Given the description of an element on the screen output the (x, y) to click on. 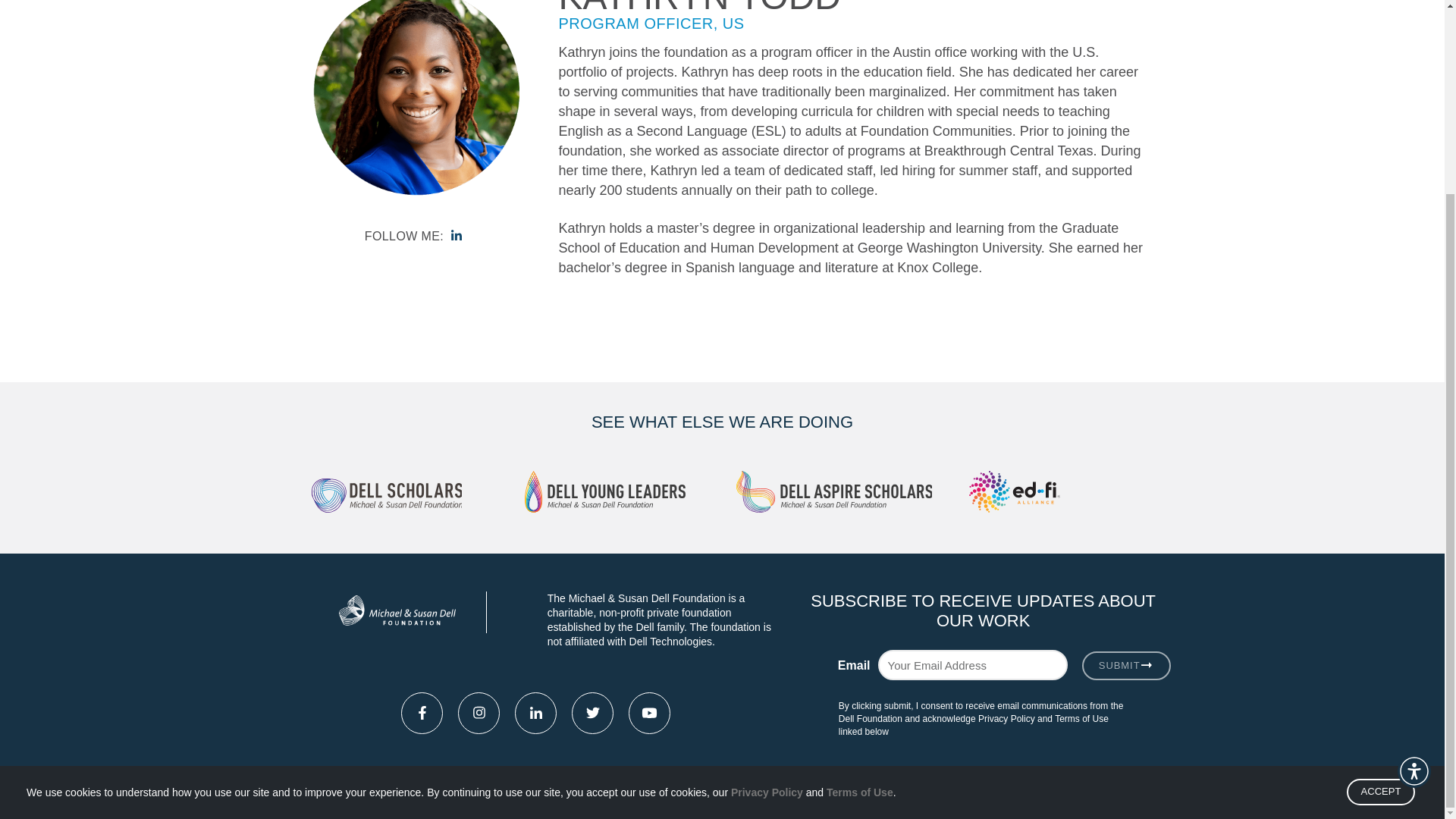
Submit (1125, 665)
Terms of Use (860, 762)
Accessibility Menu (1414, 527)
Privacy Policy (766, 774)
